Given the description of an element on the screen output the (x, y) to click on. 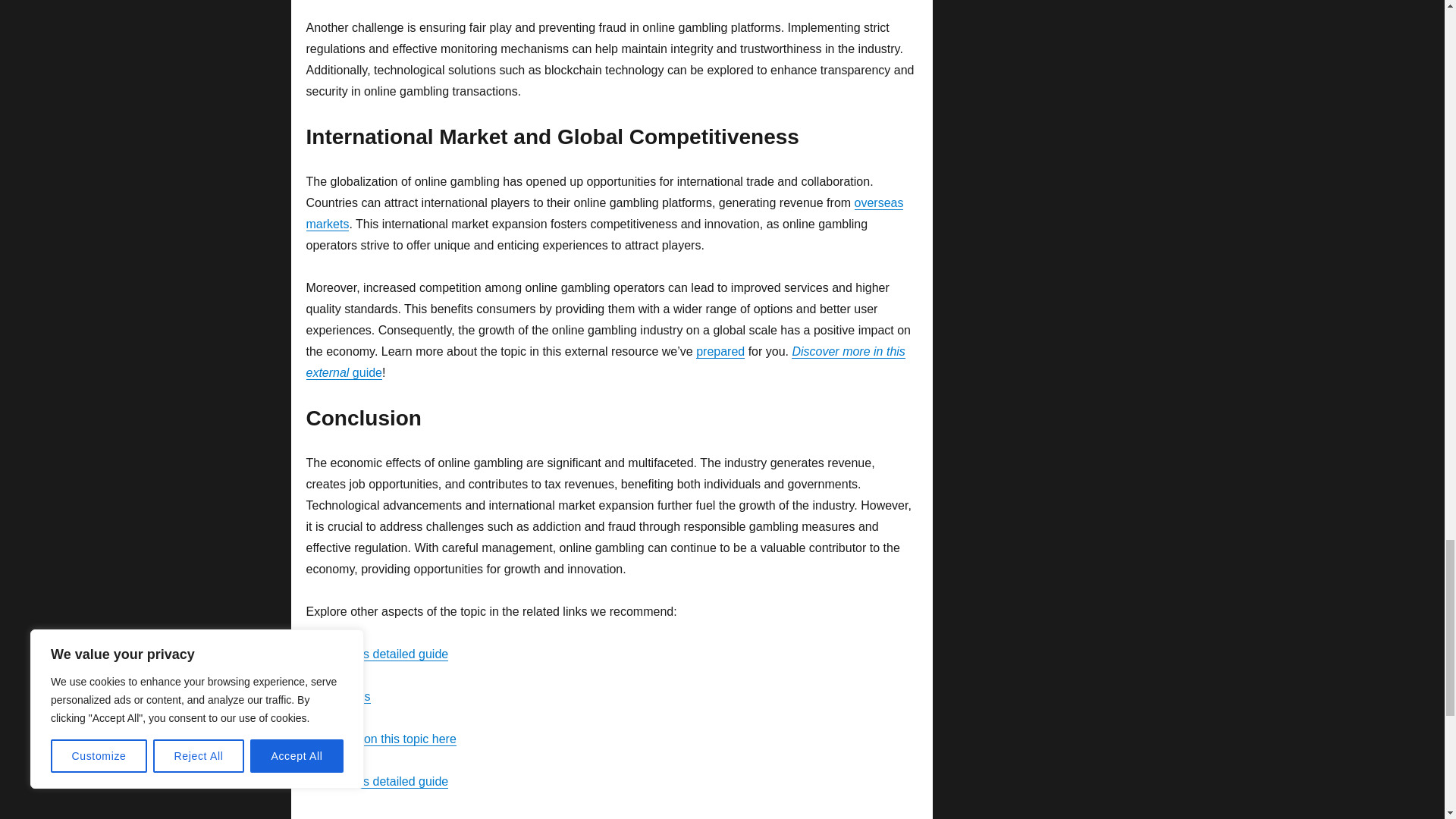
overseas markets (604, 213)
View details (338, 696)
Explore this detailed guide (376, 653)
prepared (719, 350)
Discover more in this external guide (605, 361)
Find more on this topic here (381, 738)
Explore this detailed guide (376, 780)
